Given the description of an element on the screen output the (x, y) to click on. 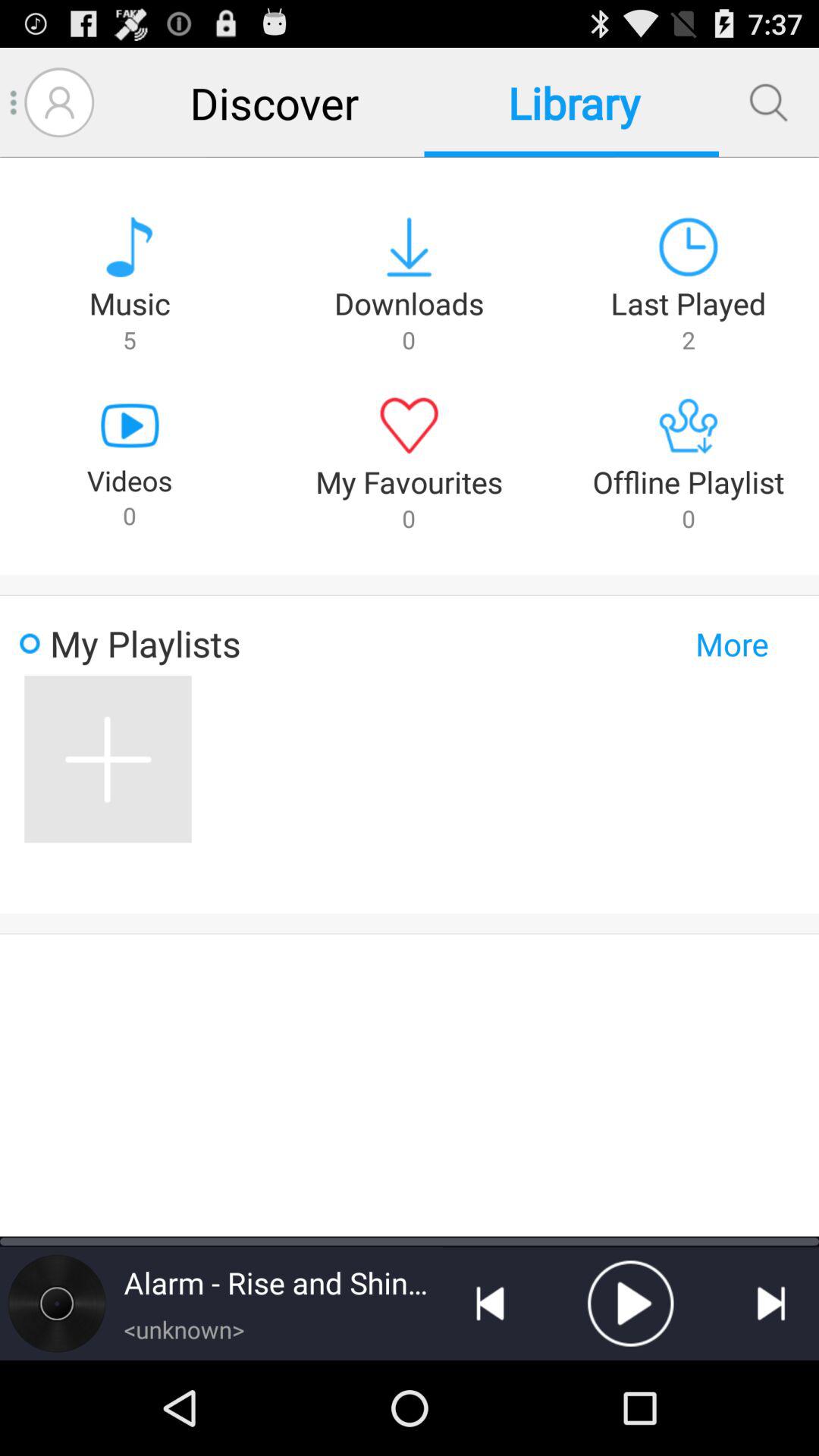
go to next item (771, 1303)
